Given the description of an element on the screen output the (x, y) to click on. 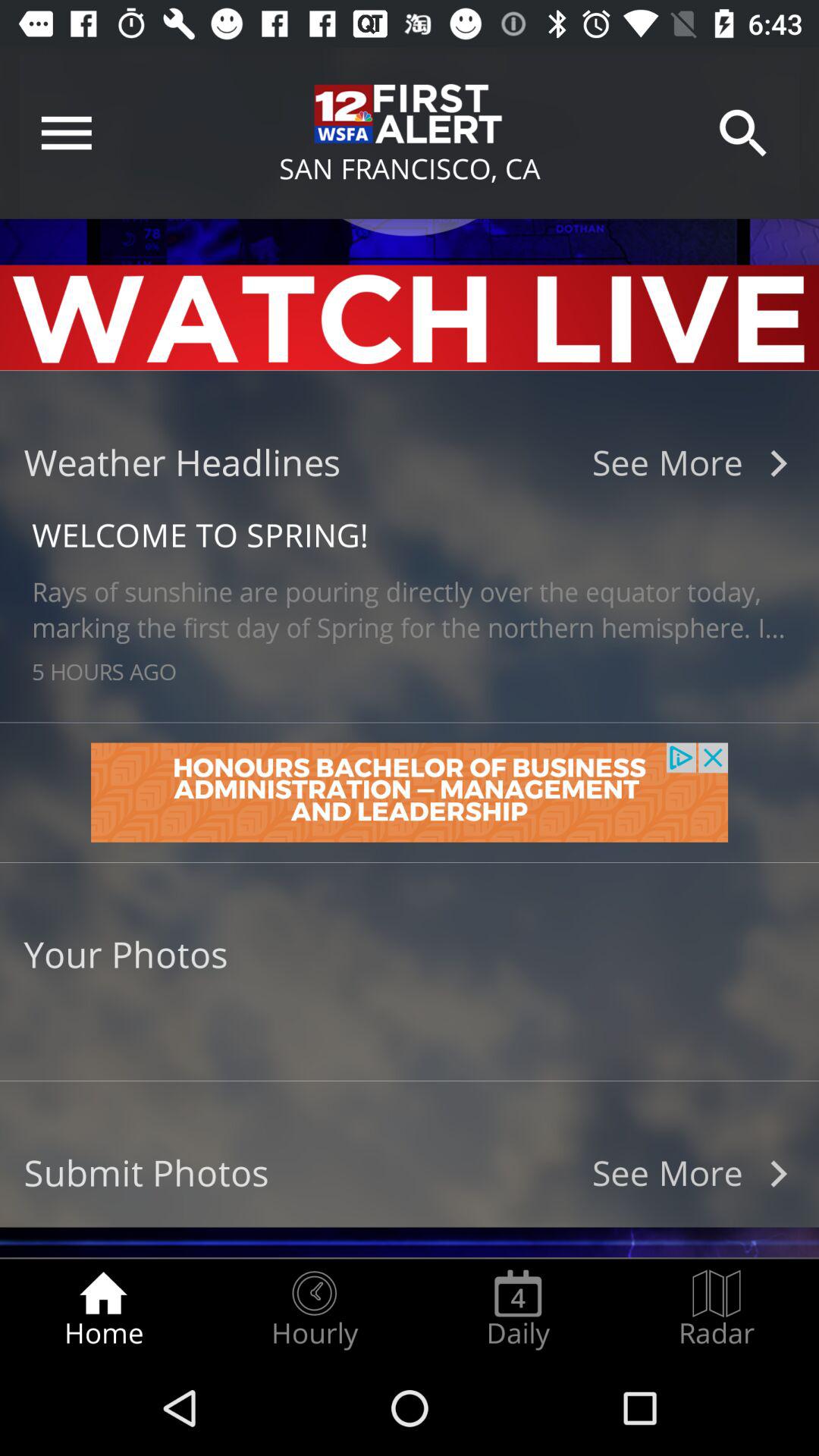
press icon to the left of the radar icon (518, 1309)
